Given the description of an element on the screen output the (x, y) to click on. 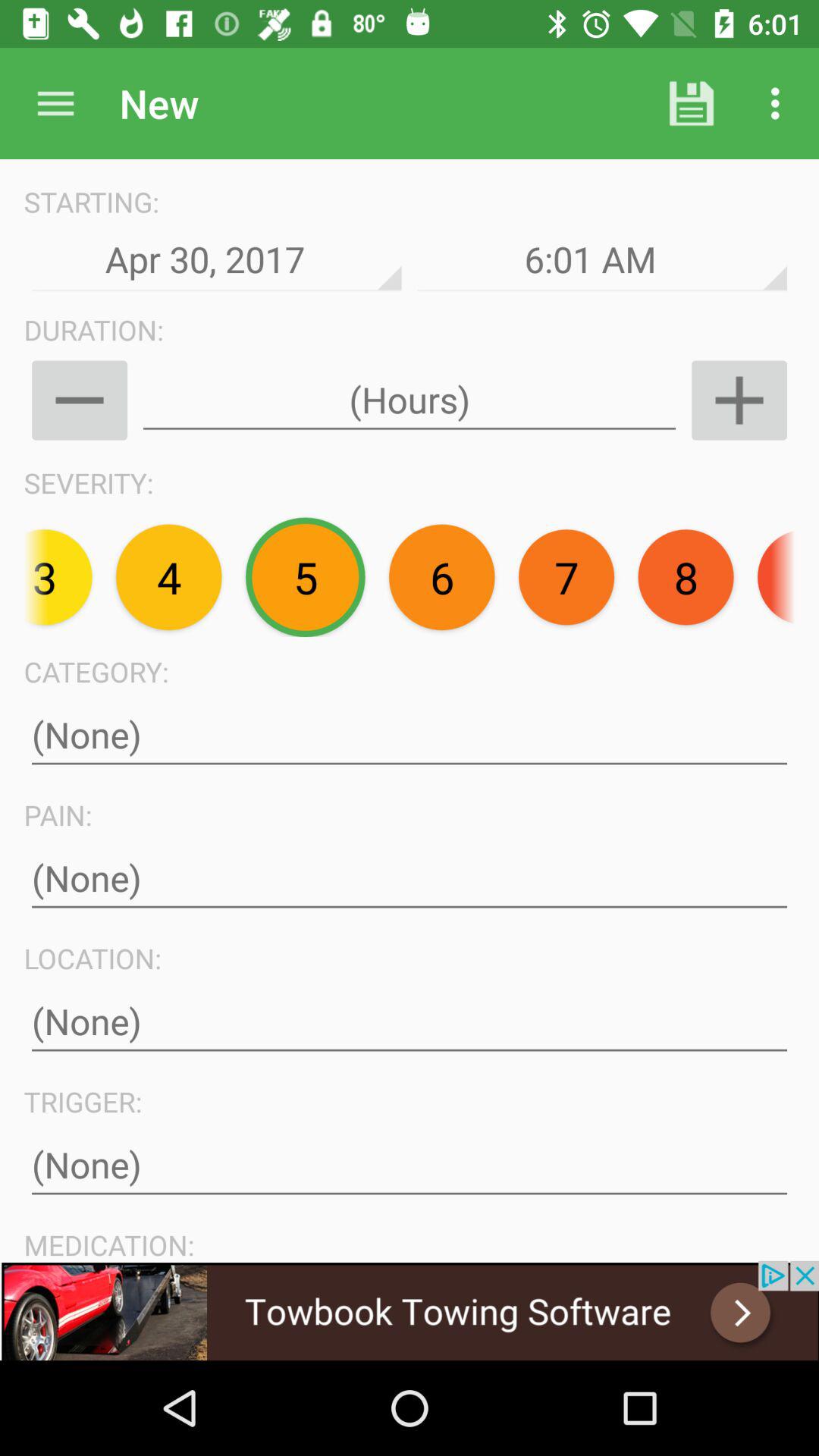
alarm ingres (739, 400)
